Given the description of an element on the screen output the (x, y) to click on. 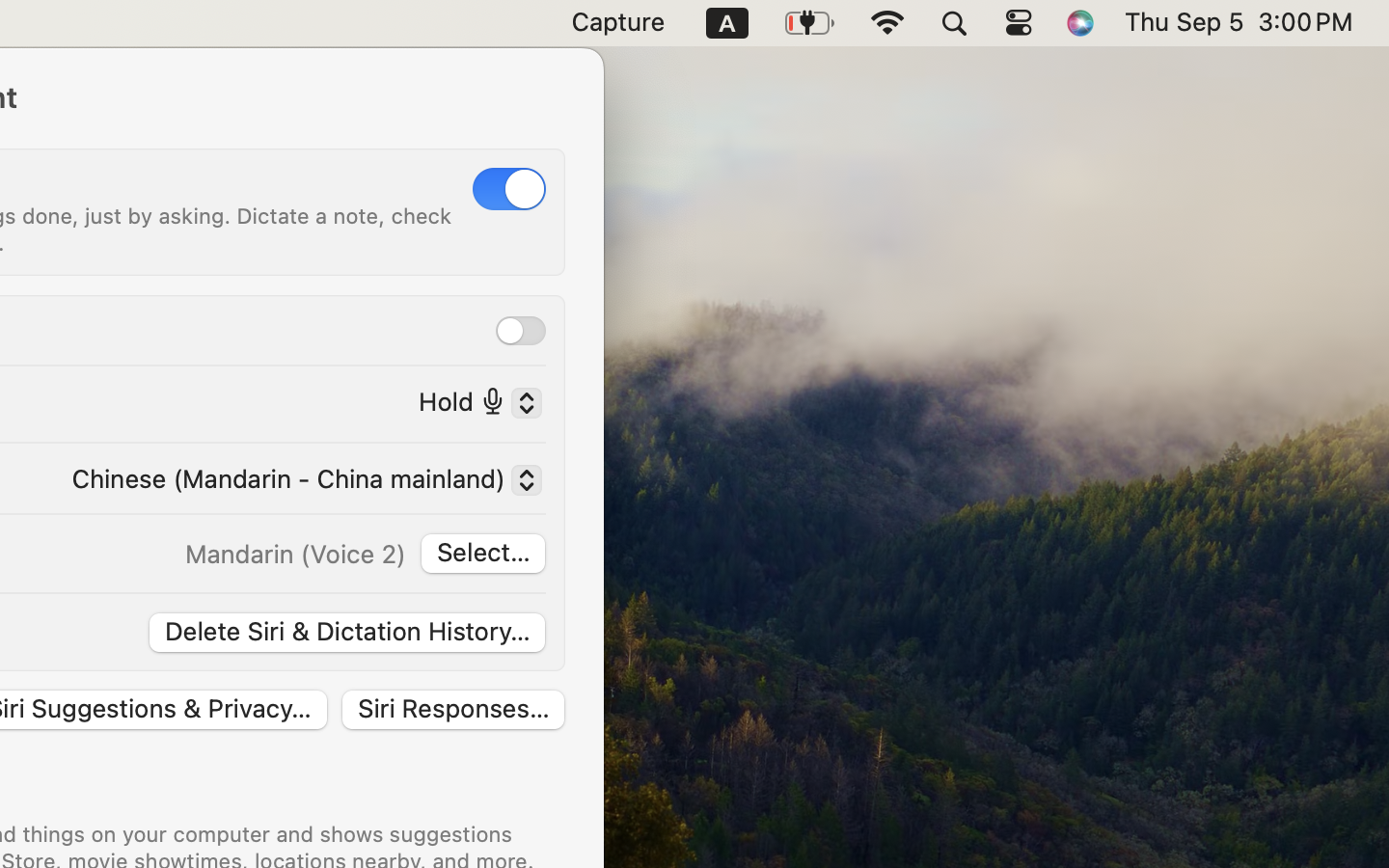
Mandarin (Voice 2) Element type: AXStaticText (295, 553)
Hold 🎤︎ Element type: AXPopUpButton (472, 405)
Chinese (Mandarin - China mainland) Element type: AXPopUpButton (298, 483)
